Given the description of an element on the screen output the (x, y) to click on. 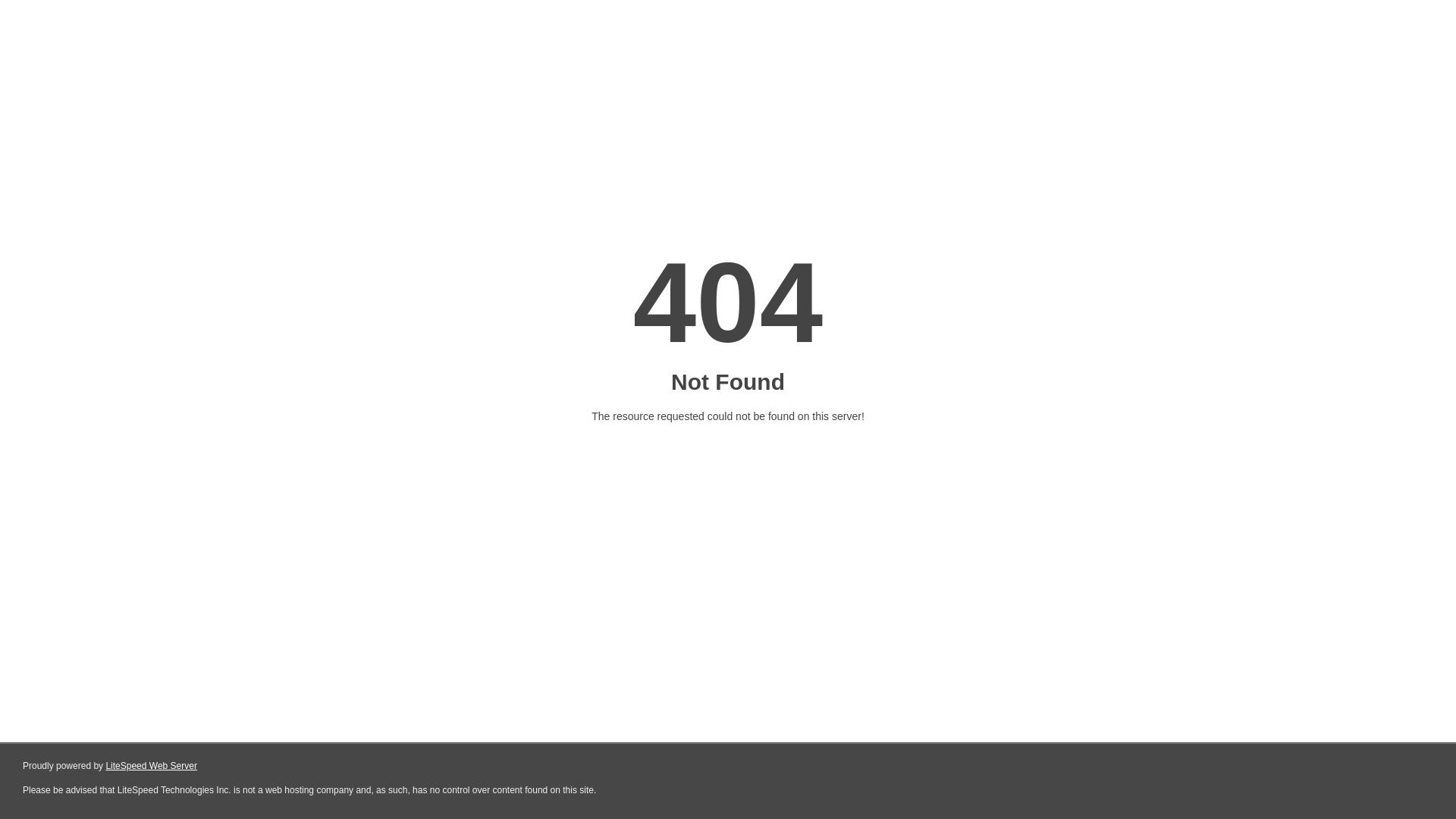
LiteSpeed Web Server Element type: text (151, 765)
